Given the description of an element on the screen output the (x, y) to click on. 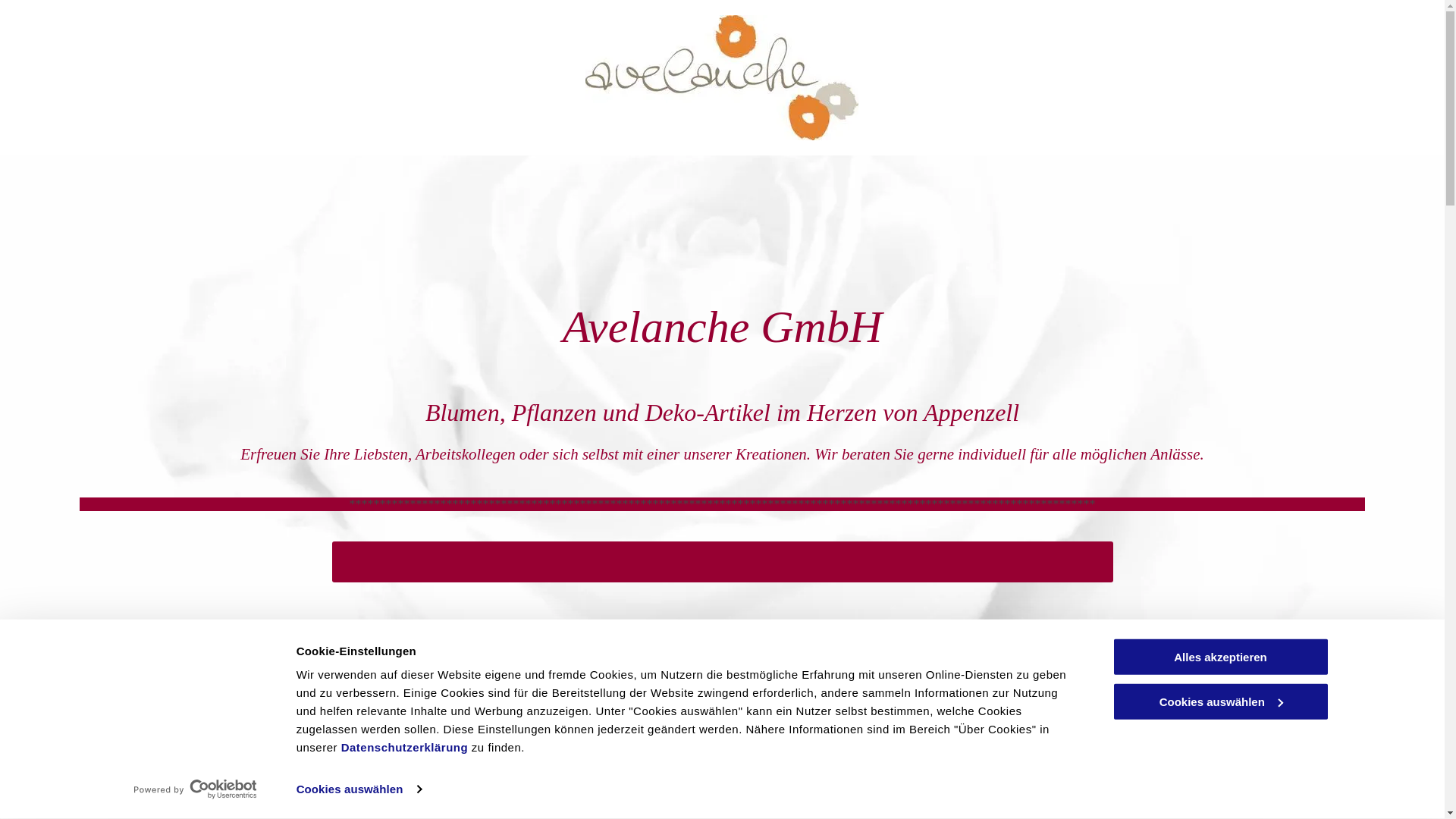
Alles akzeptieren Element type: text (1219, 656)
